Given the description of an element on the screen output the (x, y) to click on. 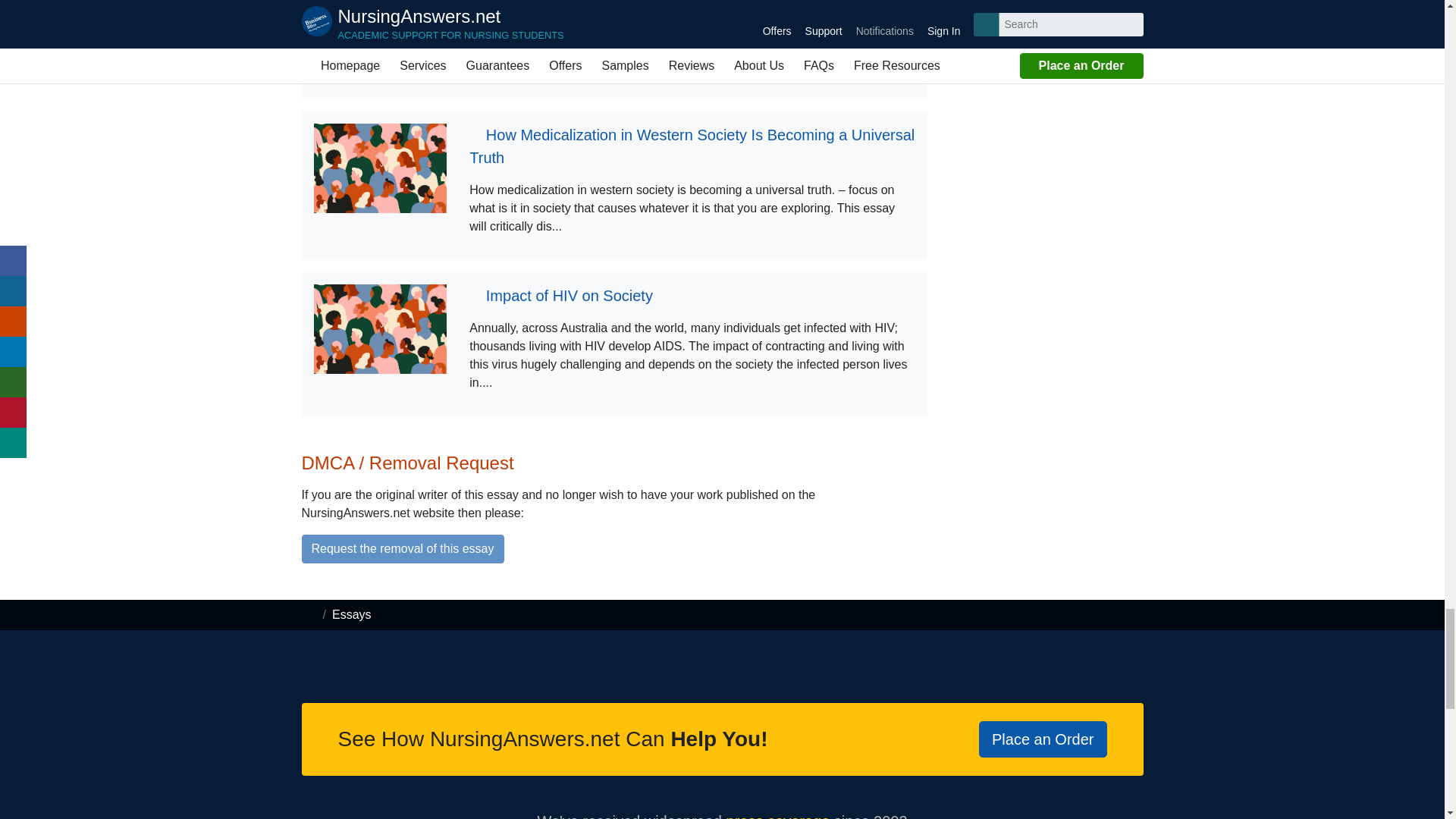
homepage link (309, 614)
